Given the description of an element on the screen output the (x, y) to click on. 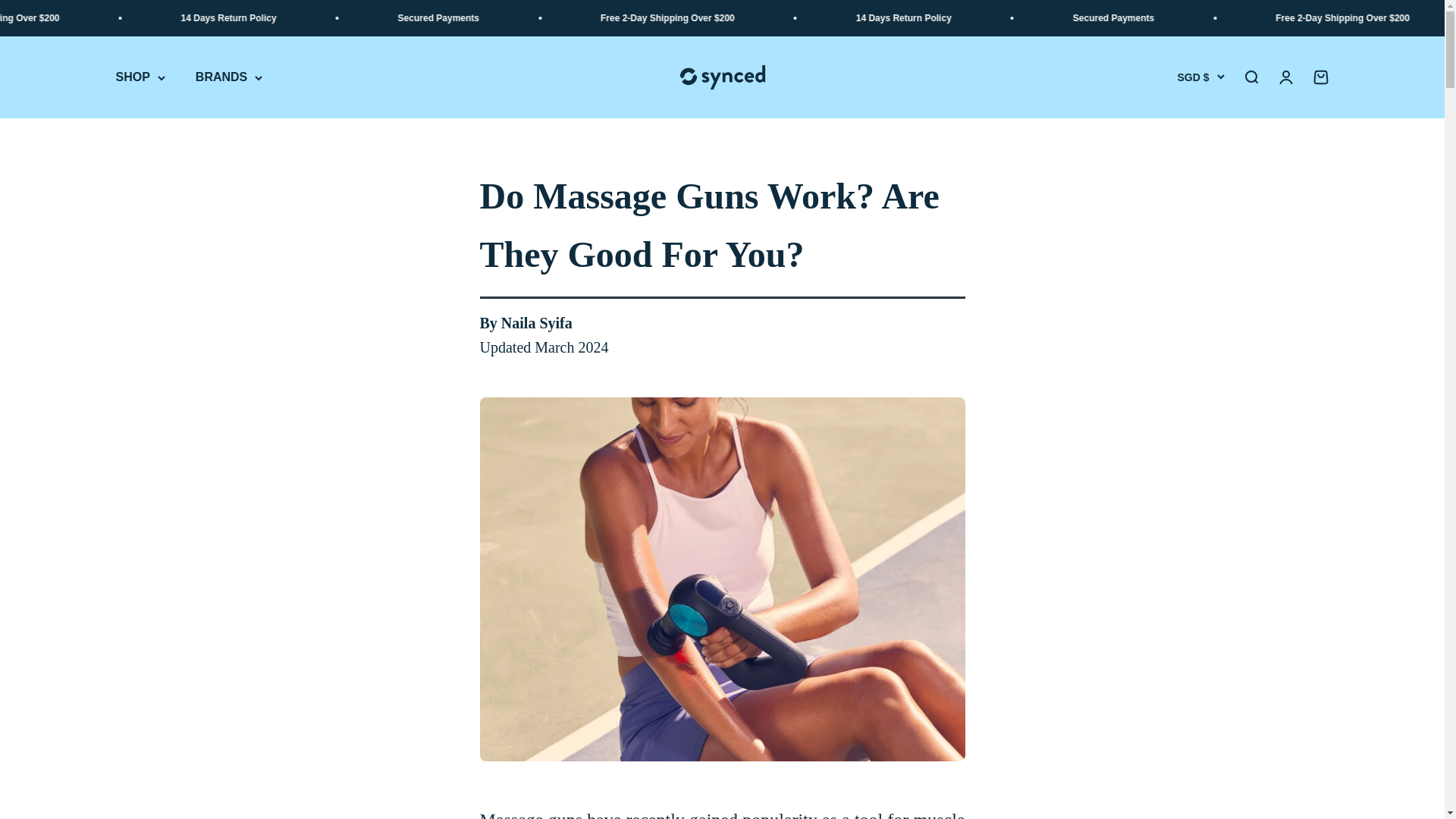
BRANDS (228, 77)
Synced (722, 77)
Open account page (1285, 76)
Open search (1319, 76)
SHOP (1250, 76)
